Given the description of an element on the screen output the (x, y) to click on. 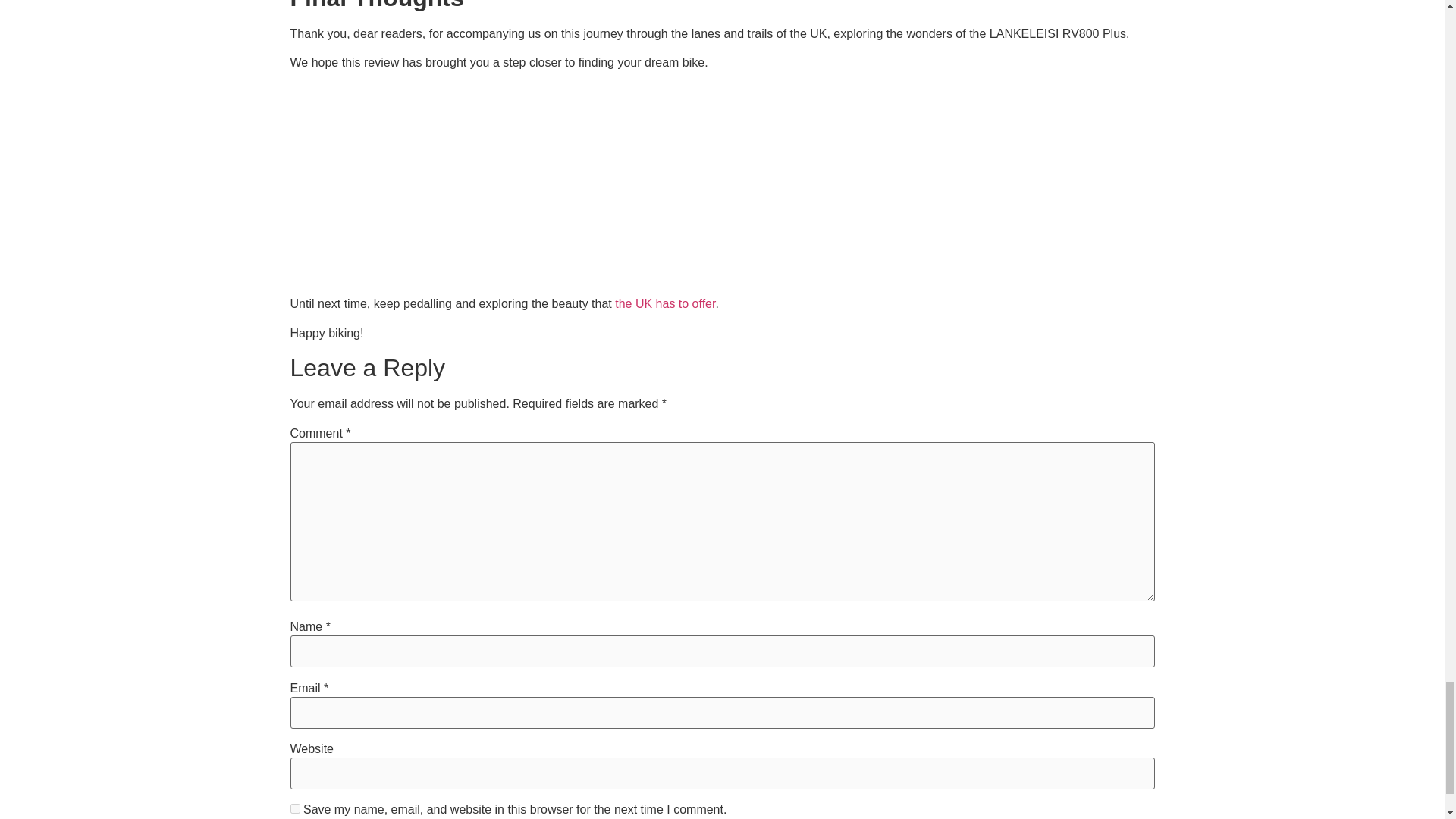
yes (294, 808)
